Given the description of an element on the screen output the (x, y) to click on. 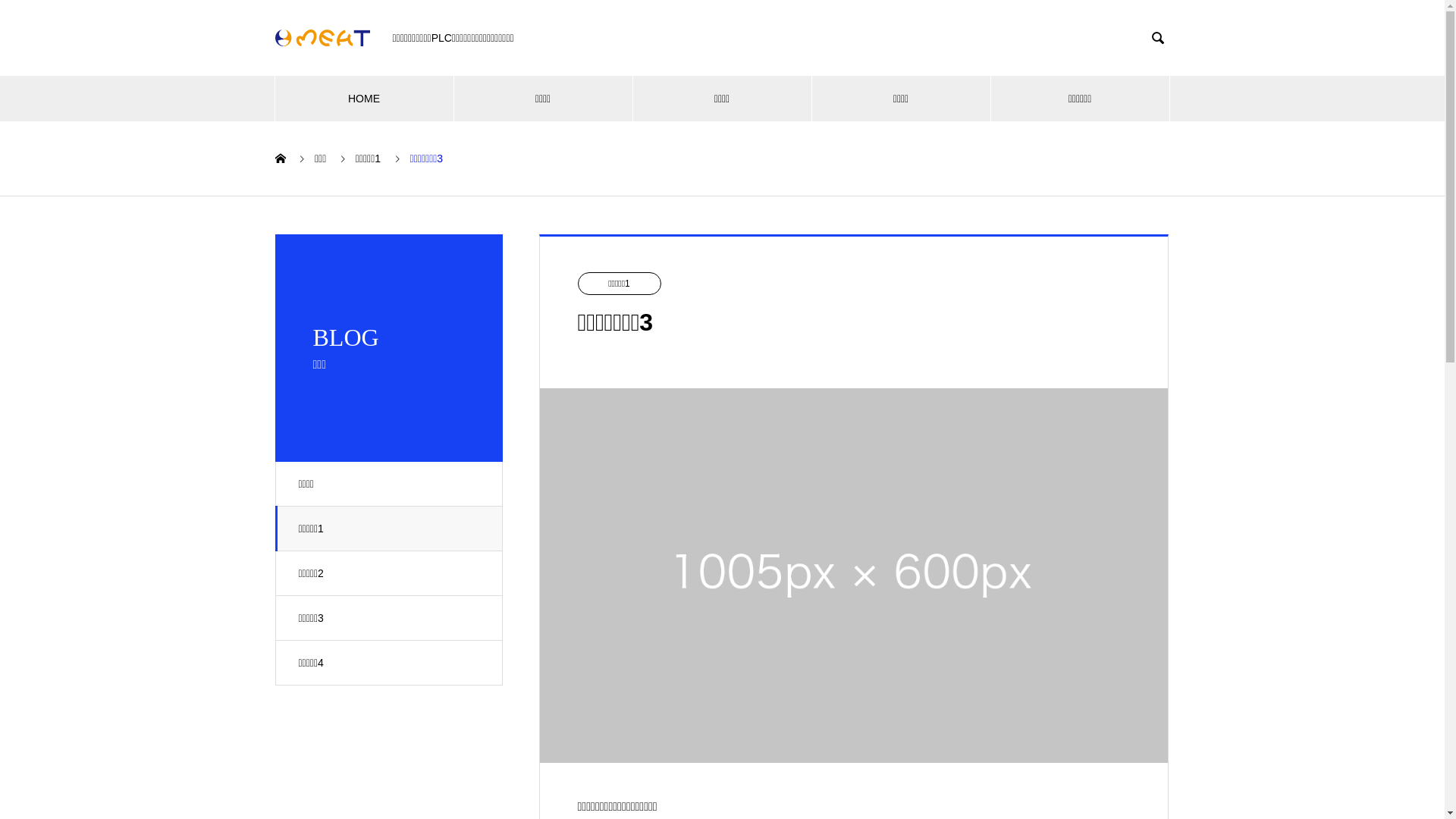
HOME Element type: text (363, 98)
